Given the description of an element on the screen output the (x, y) to click on. 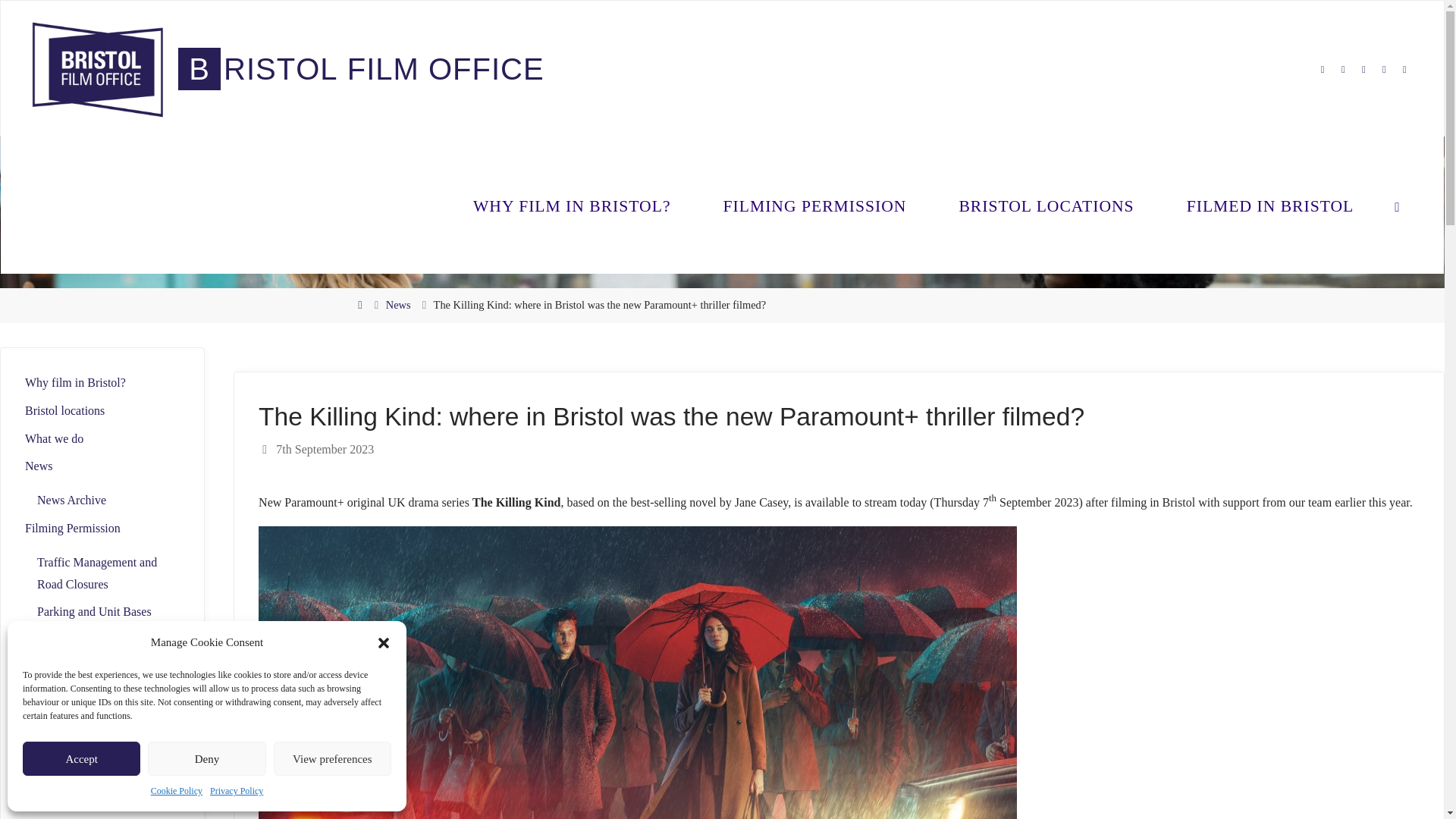
Date (266, 449)
FILMING PERMISSION (815, 205)
Accept (81, 758)
FILMED IN BRISTOL (1270, 205)
View preferences (332, 758)
BRISTOL FILM OFFICE (360, 68)
Deny (206, 758)
Privacy Policy (236, 791)
Cookie Policy (176, 791)
Bristol Film Office (97, 68)
BRISTOL LOCATIONS (1046, 205)
WHY FILM IN BRISTOL? (571, 205)
